Given the description of an element on the screen output the (x, y) to click on. 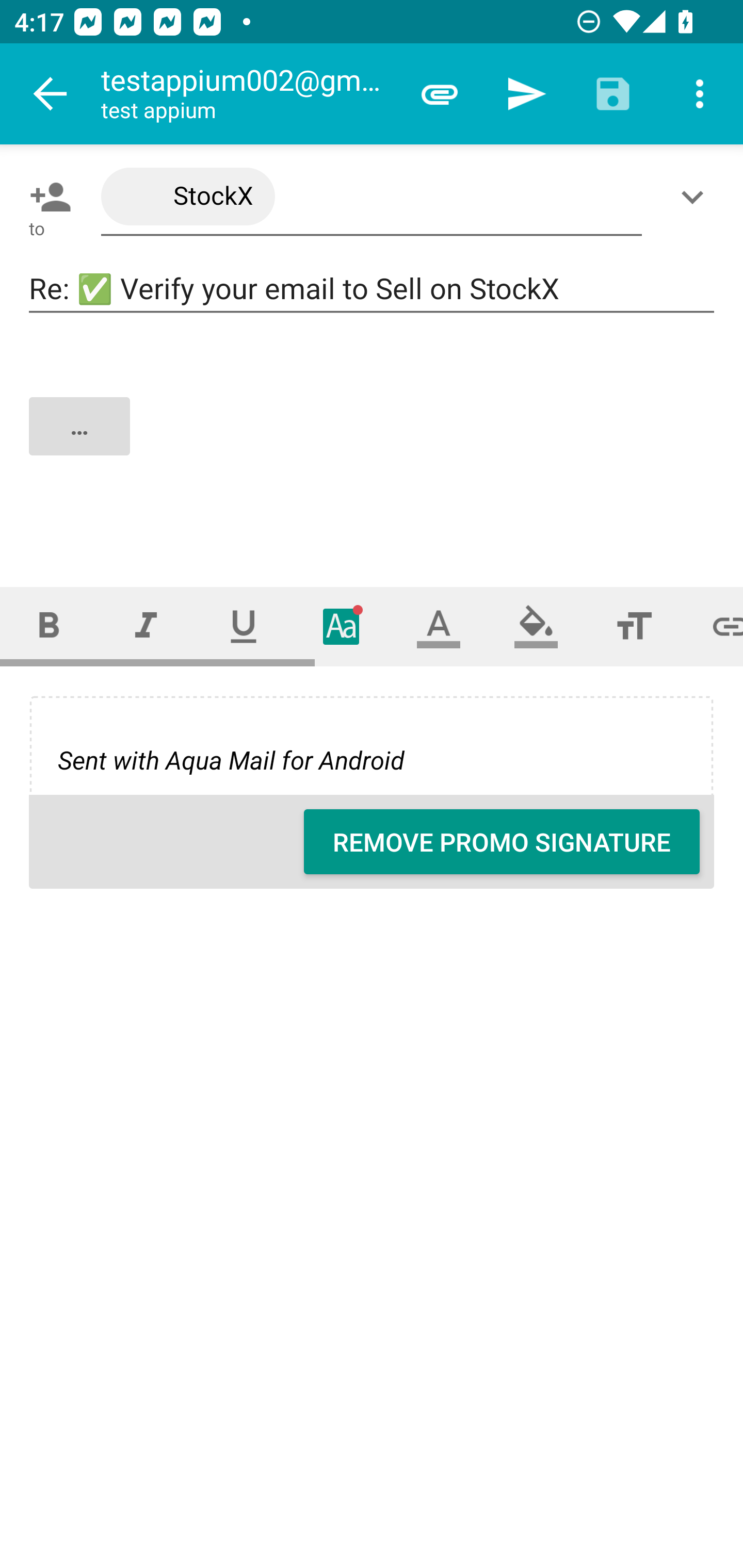
Navigate up (50, 93)
testappium002@gmail.com test appium (248, 93)
Attach (439, 93)
Send (525, 93)
Save (612, 93)
More options (699, 93)
StockX <noreply@stockx.com>,  (371, 197)
Pick contact: To (46, 196)
Show/Add CC/BCC (696, 196)
Re: ✅ Verify your email to Sell on StockX (371, 288)

…
 (372, 442)
Bold (48, 626)
Italic (145, 626)
Underline (243, 626)
Typeface (font) (341, 626)
Text color (438, 626)
Fill color (536, 626)
Font size (633, 626)
REMOVE PROMO SIGNATURE (501, 841)
